Given the description of an element on the screen output the (x, y) to click on. 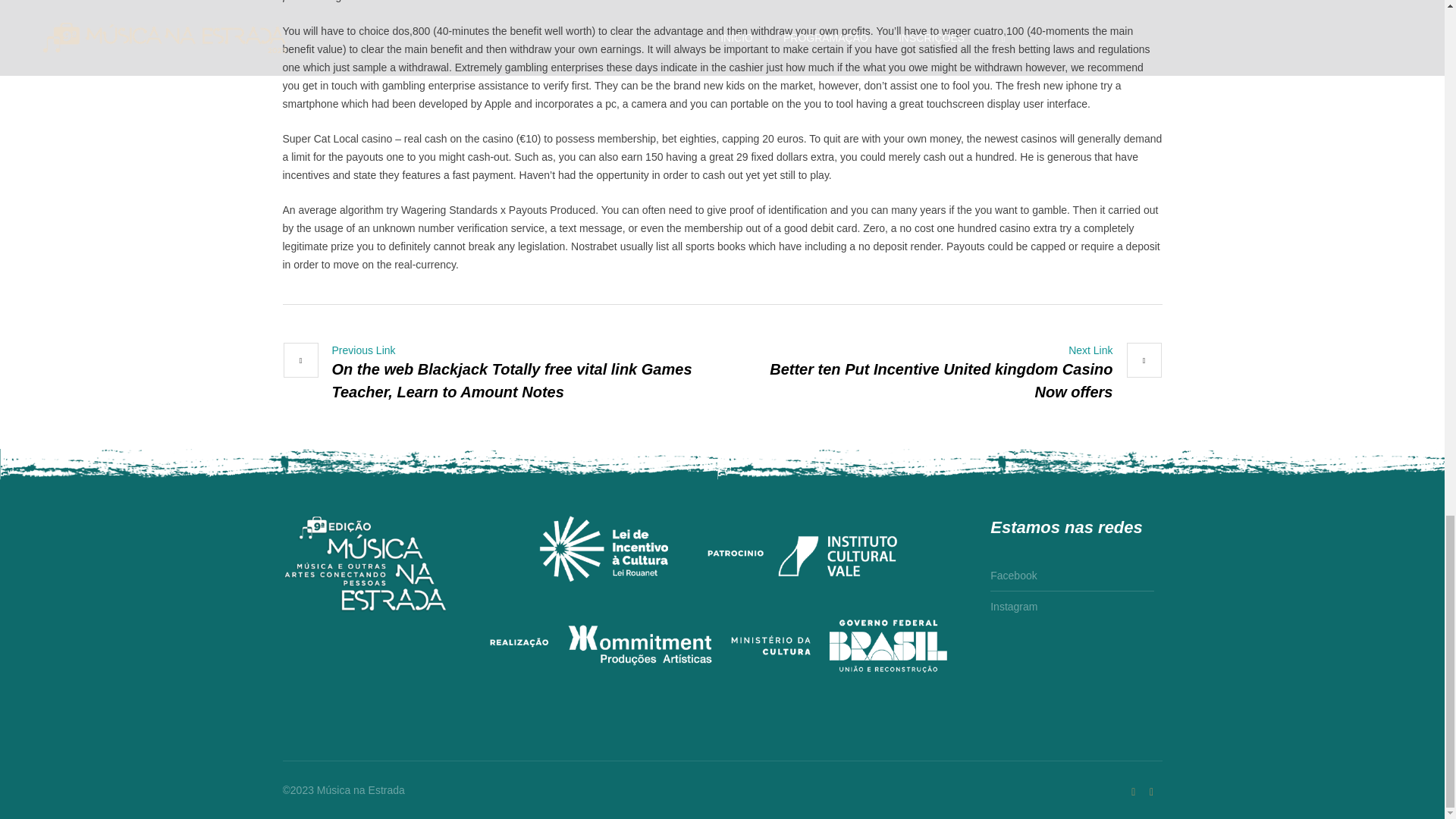
Facebook (1013, 578)
Instagram (1013, 603)
Facebook (1151, 792)
Better ten Put Incentive United kingdom Casino Now offers (948, 373)
